Given the description of an element on the screen output the (x, y) to click on. 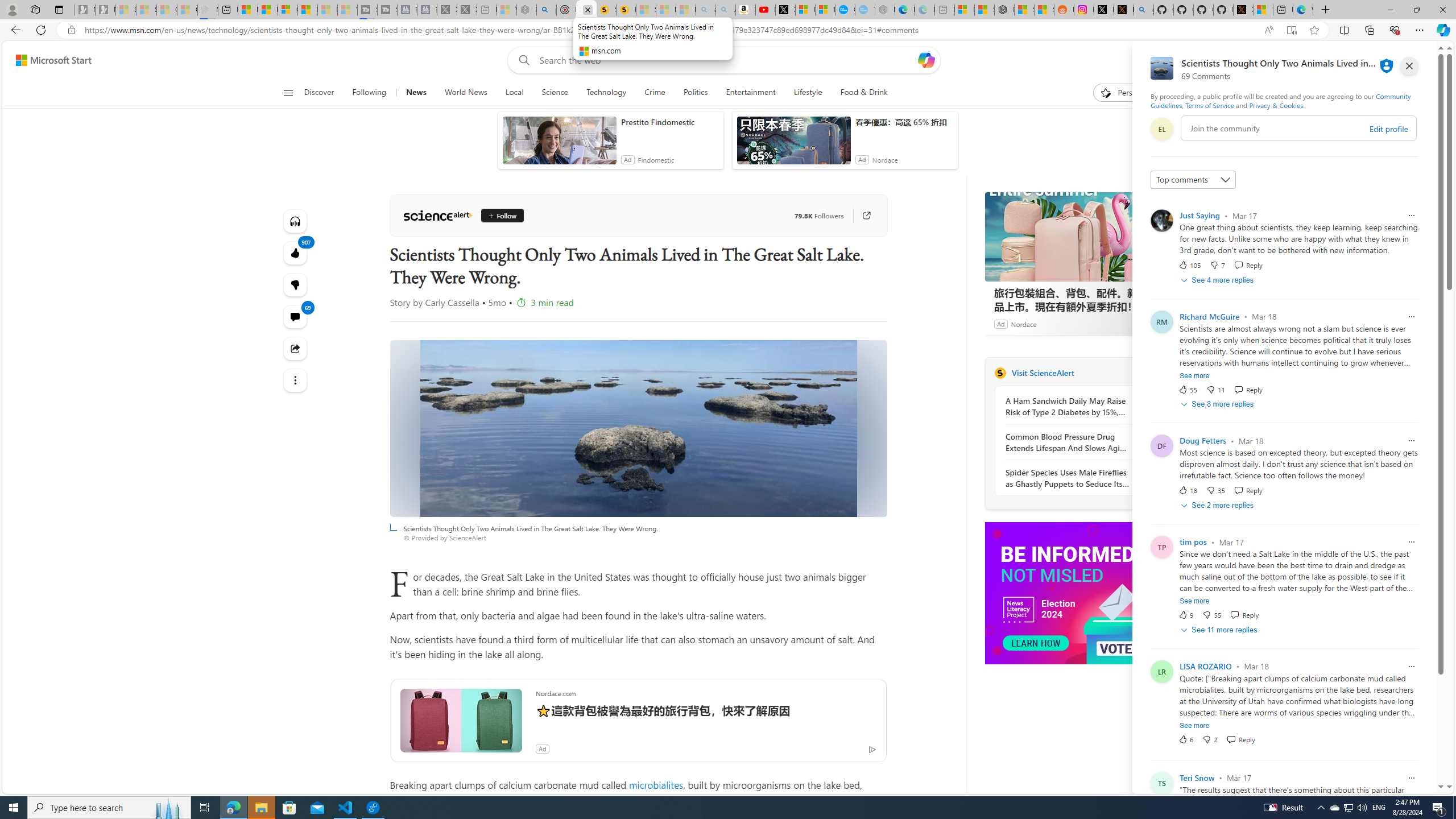
News (416, 92)
Profile Picture (1161, 220)
Food & Drink (864, 92)
Science (554, 92)
ScienceAlert (1000, 372)
See more (295, 380)
Doug Fetters (1203, 440)
Streaming Coverage | T3 - Sleeping (366, 9)
Shanghai, China Weather trends | Microsoft Weather (1043, 9)
